Given the description of an element on the screen output the (x, y) to click on. 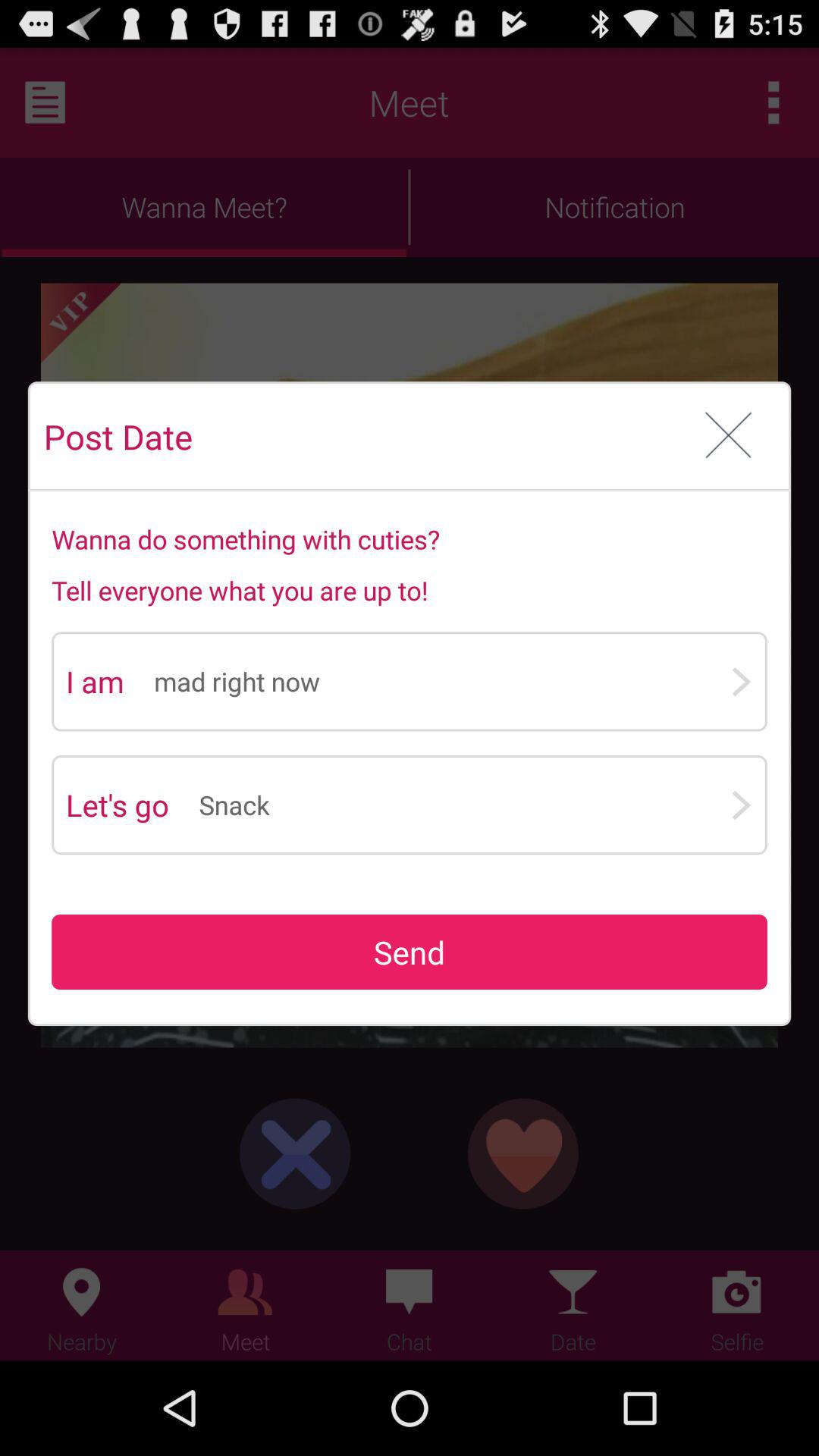
press icon at the top right corner (728, 436)
